Given the description of an element on the screen output the (x, y) to click on. 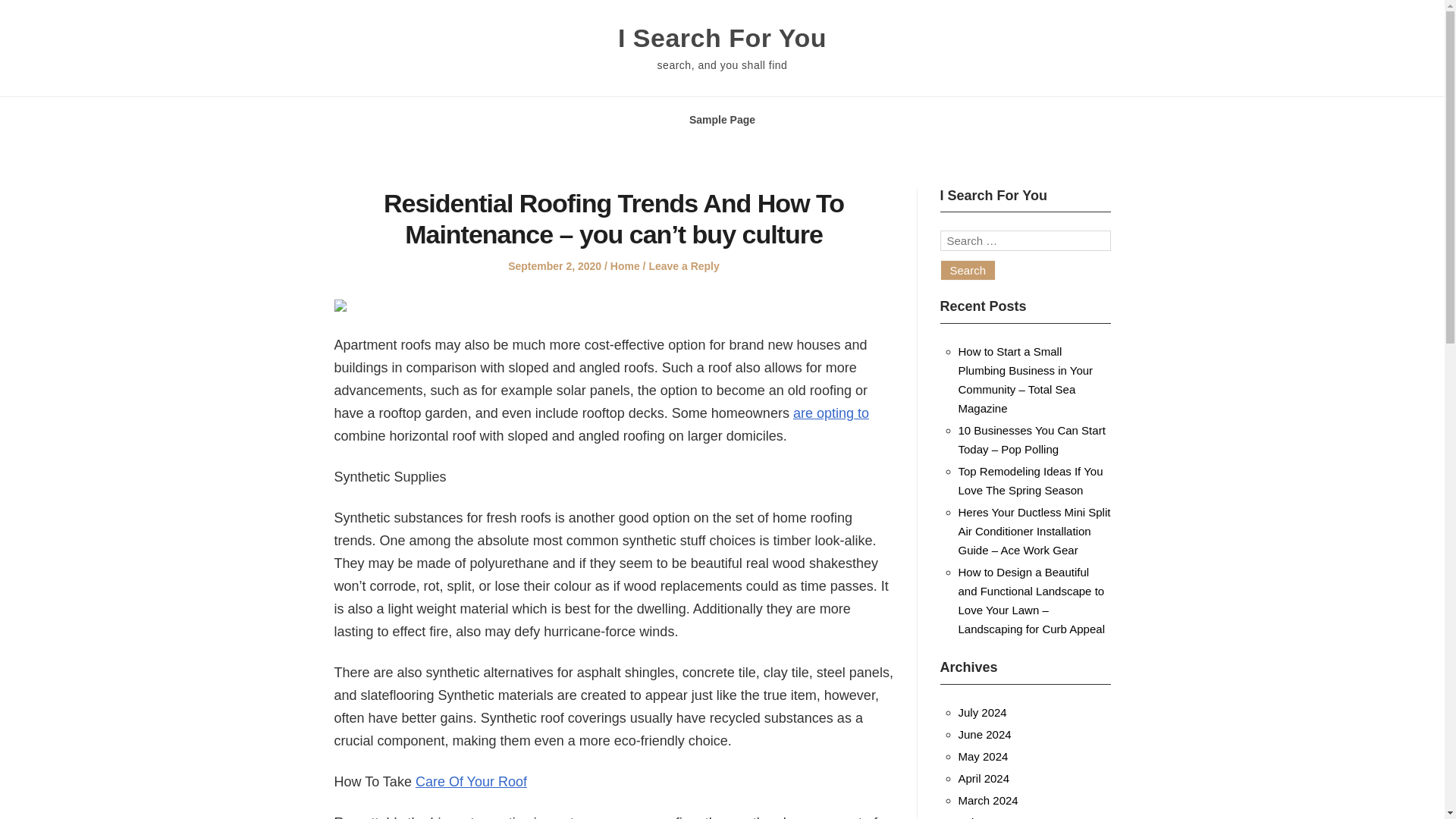
Top Remodeling Ideas If You Love The Spring Season (1030, 480)
Search (967, 270)
Search (967, 270)
April 2024 (984, 778)
September 2, 2020 (554, 265)
Search (967, 270)
Home (625, 265)
July 2024 (982, 712)
I Search For You (722, 38)
February 2024 (995, 817)
are opting to (831, 412)
Sample Page (721, 119)
June 2024 (984, 734)
March 2024 (987, 799)
May 2024 (983, 756)
